Given the description of an element on the screen output the (x, y) to click on. 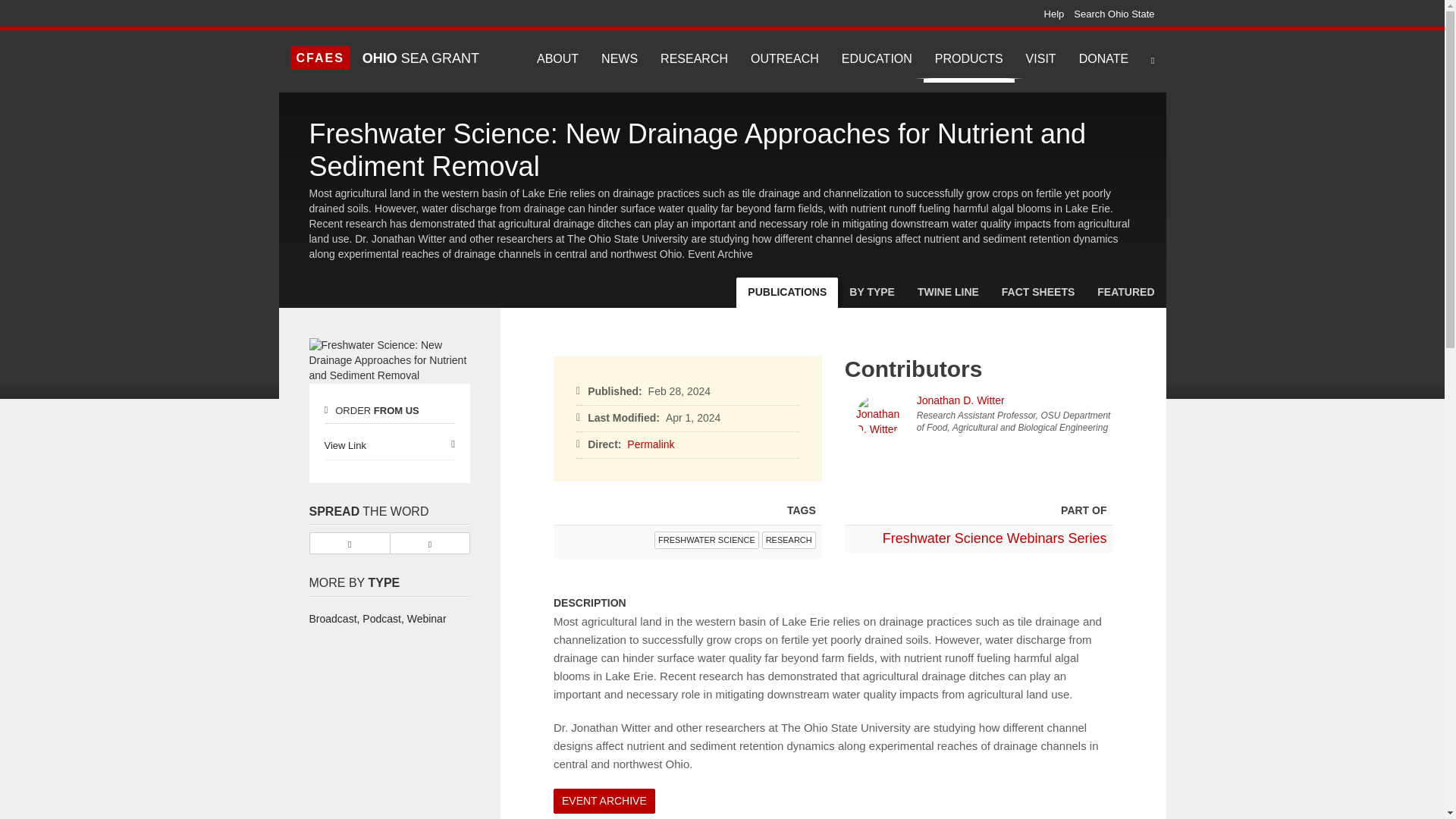
NEWS (619, 59)
The Ohio State University (319, 13)
RESEARCH (694, 59)
OUTREACH (784, 59)
Help (1053, 13)
Search Ohio State (1114, 13)
OHIO SEA GRANT (420, 59)
ABOUT (557, 59)
CFAES (319, 57)
